Given the description of an element on the screen output the (x, y) to click on. 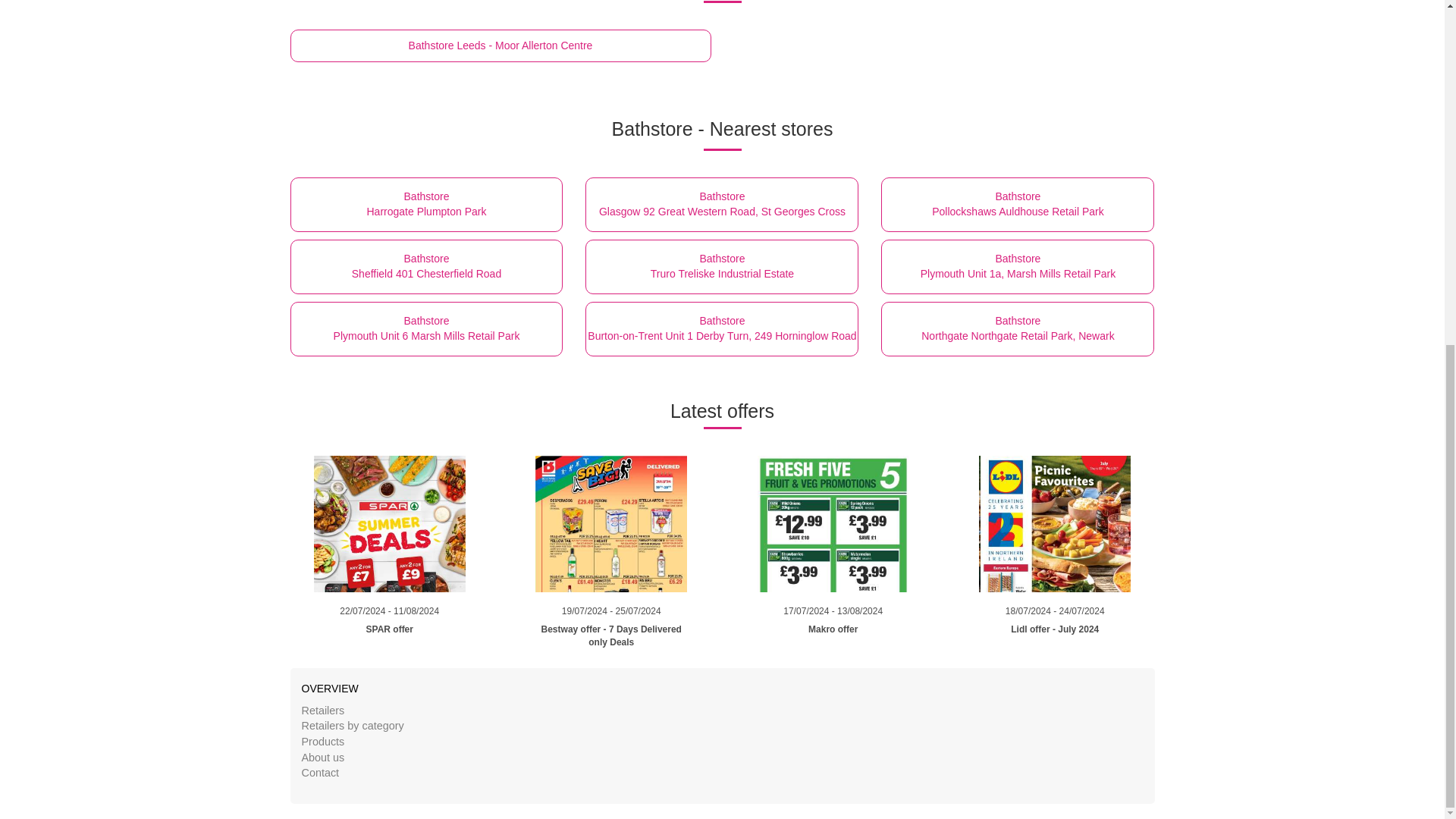
Bestway offer - 7 Days Delivered only Deals (1017, 329)
Lidl offer - July 2024 (611, 614)
Bestway offer - 7 Days Delivered only Deals (1054, 530)
Makro offer (611, 637)
Makro offer (832, 523)
Bestway offer - 7 Days Delivered only Deals (832, 614)
Makro offer (611, 530)
Makro offer (832, 637)
SPAR offer (1017, 266)
Lidl offer - July 2024 (722, 266)
Retailers (832, 637)
Bestway offer - 7 Days Delivered only Deals (389, 614)
